Given the description of an element on the screen output the (x, y) to click on. 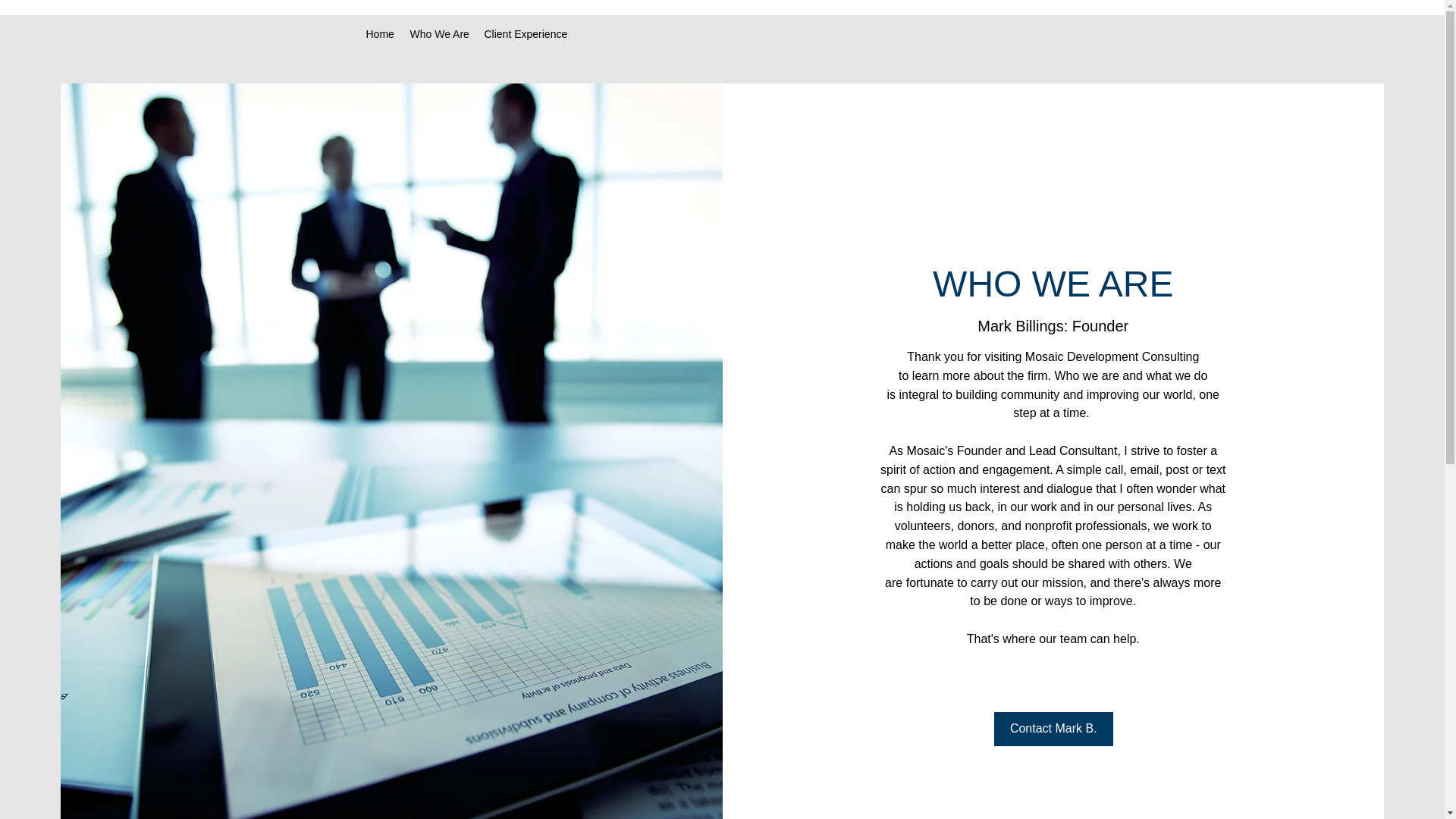
Client Experience (526, 33)
Who We Are (438, 33)
Home (379, 33)
Contact Mark B. (1053, 728)
